Given the description of an element on the screen output the (x, y) to click on. 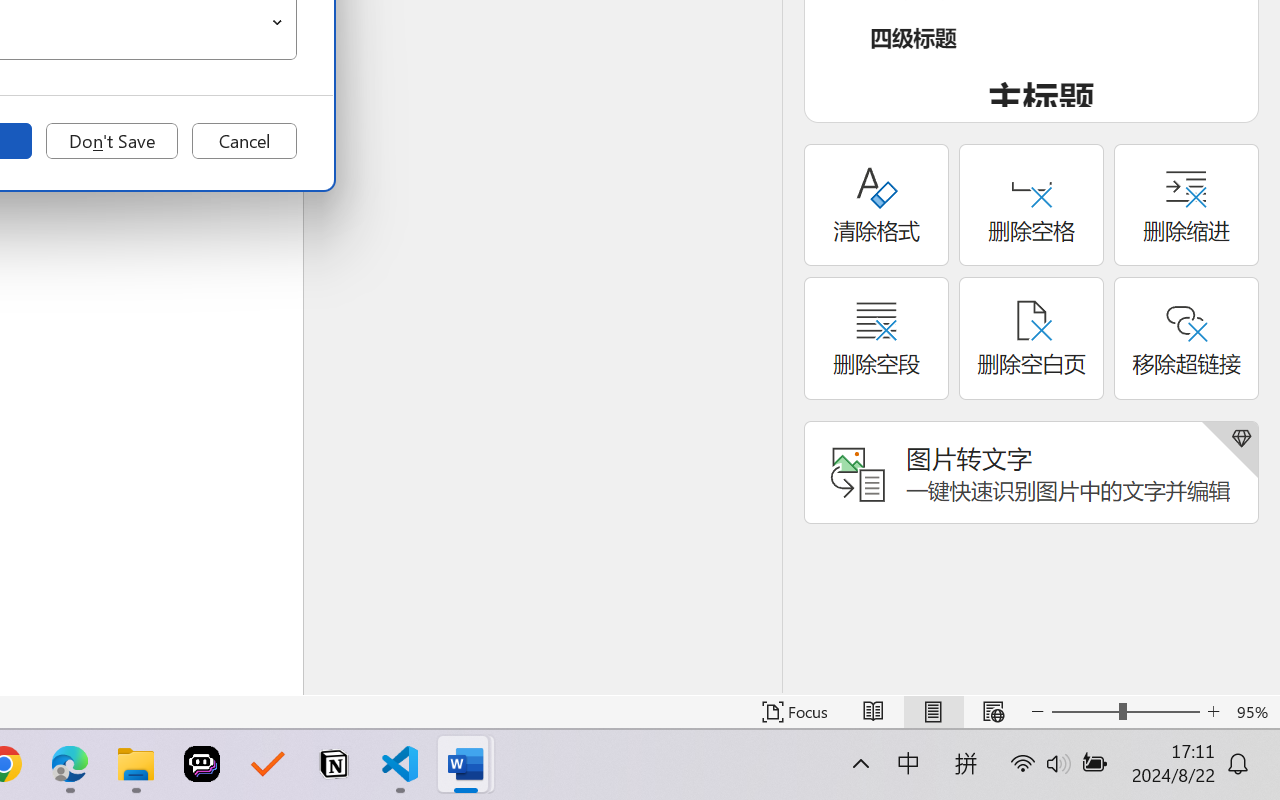
Zoom 95% (1253, 712)
